Given the description of an element on the screen output the (x, y) to click on. 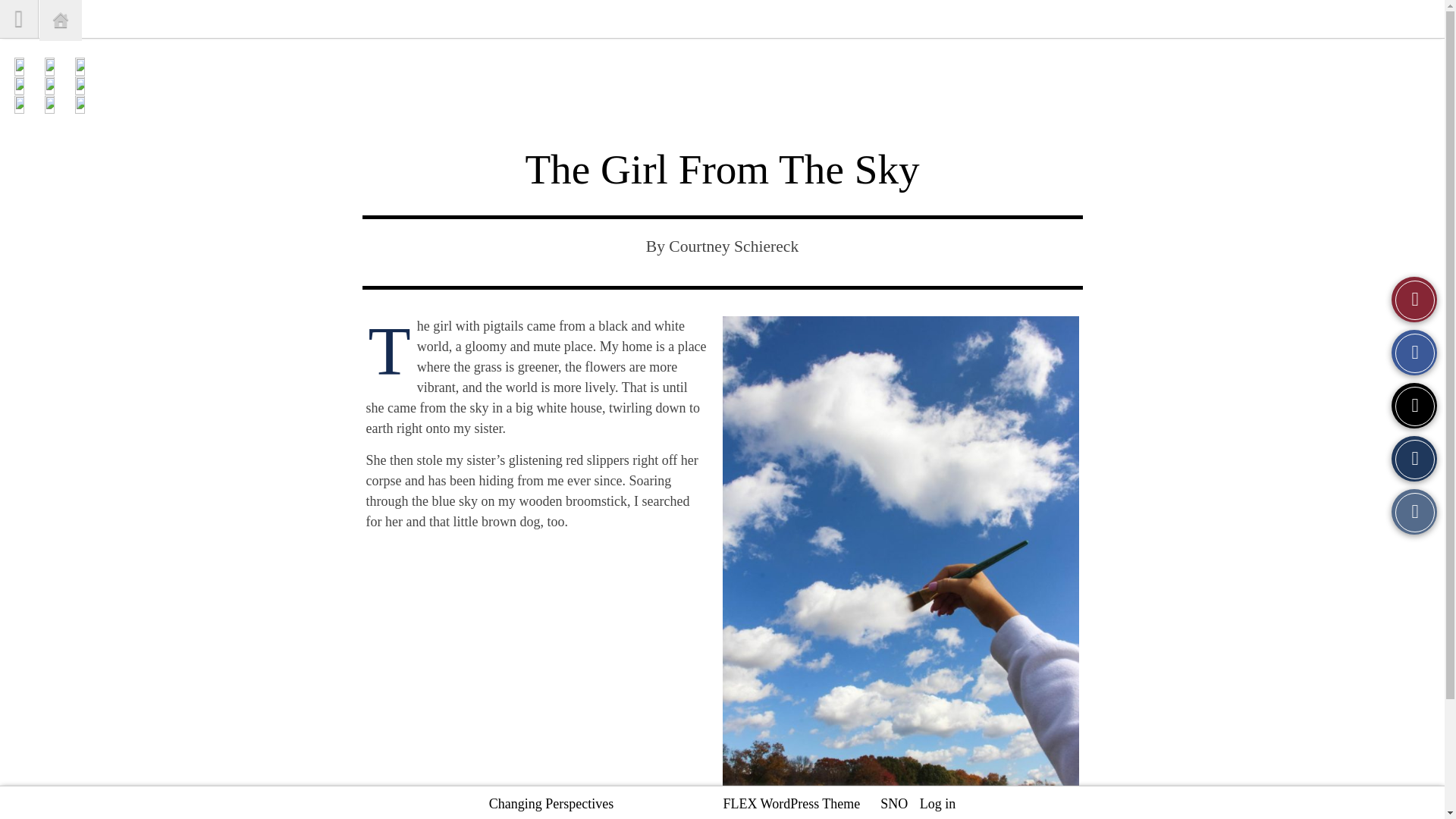
Share on Facebook (1414, 352)
Share on Facebook (1414, 352)
Log in (938, 803)
Print this Story (1414, 511)
Tweet This Story (1414, 405)
SNO (893, 803)
Share on X (1414, 405)
Share via Email (1414, 458)
Changing Perspectives (550, 803)
Print (1414, 511)
